Given the description of an element on the screen output the (x, y) to click on. 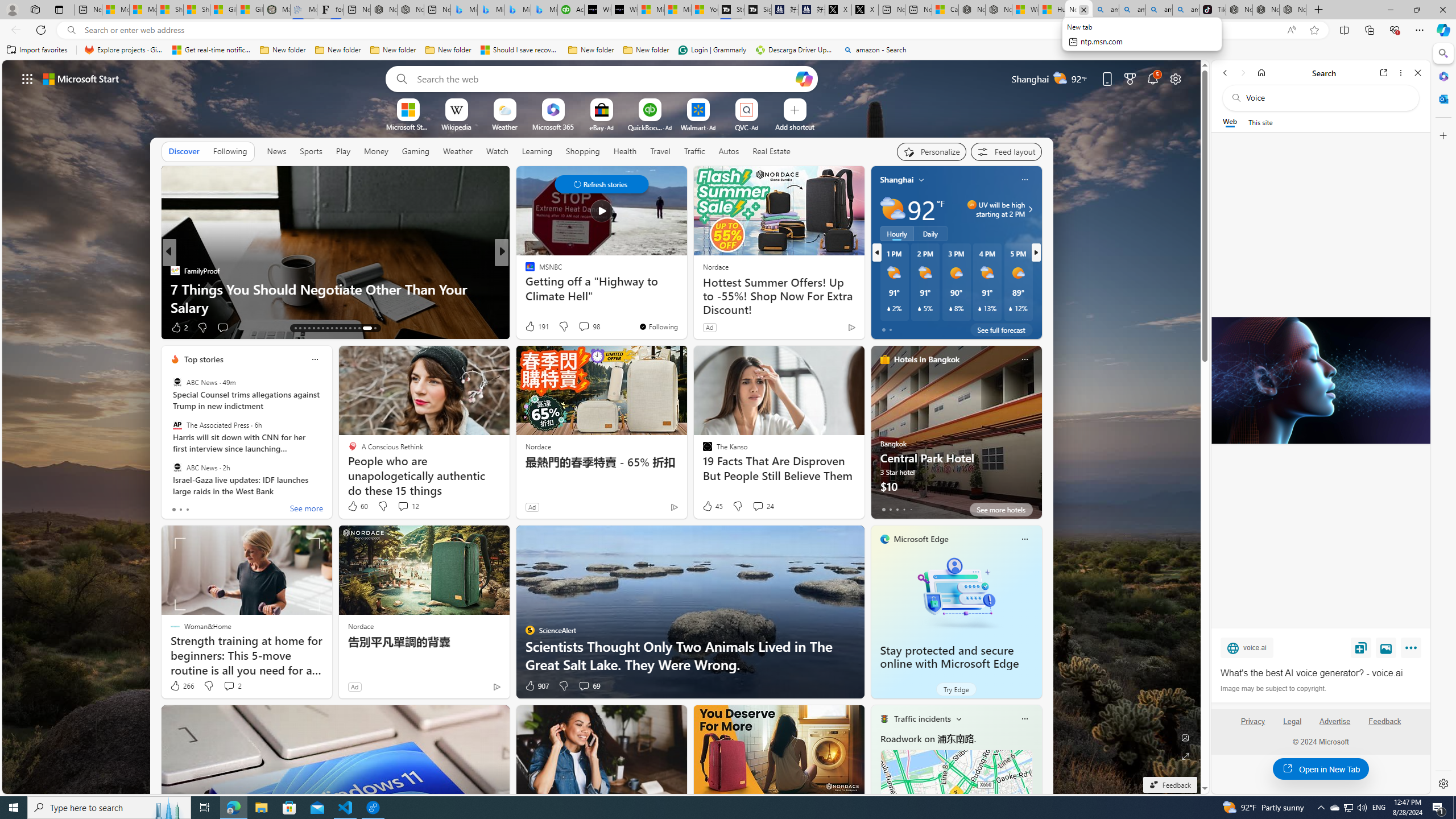
2 Like (178, 327)
Nordace - Best Sellers (1239, 9)
Microsoft 365 (1442, 76)
Traffic (694, 151)
Settings (1442, 783)
